Given the description of an element on the screen output the (x, y) to click on. 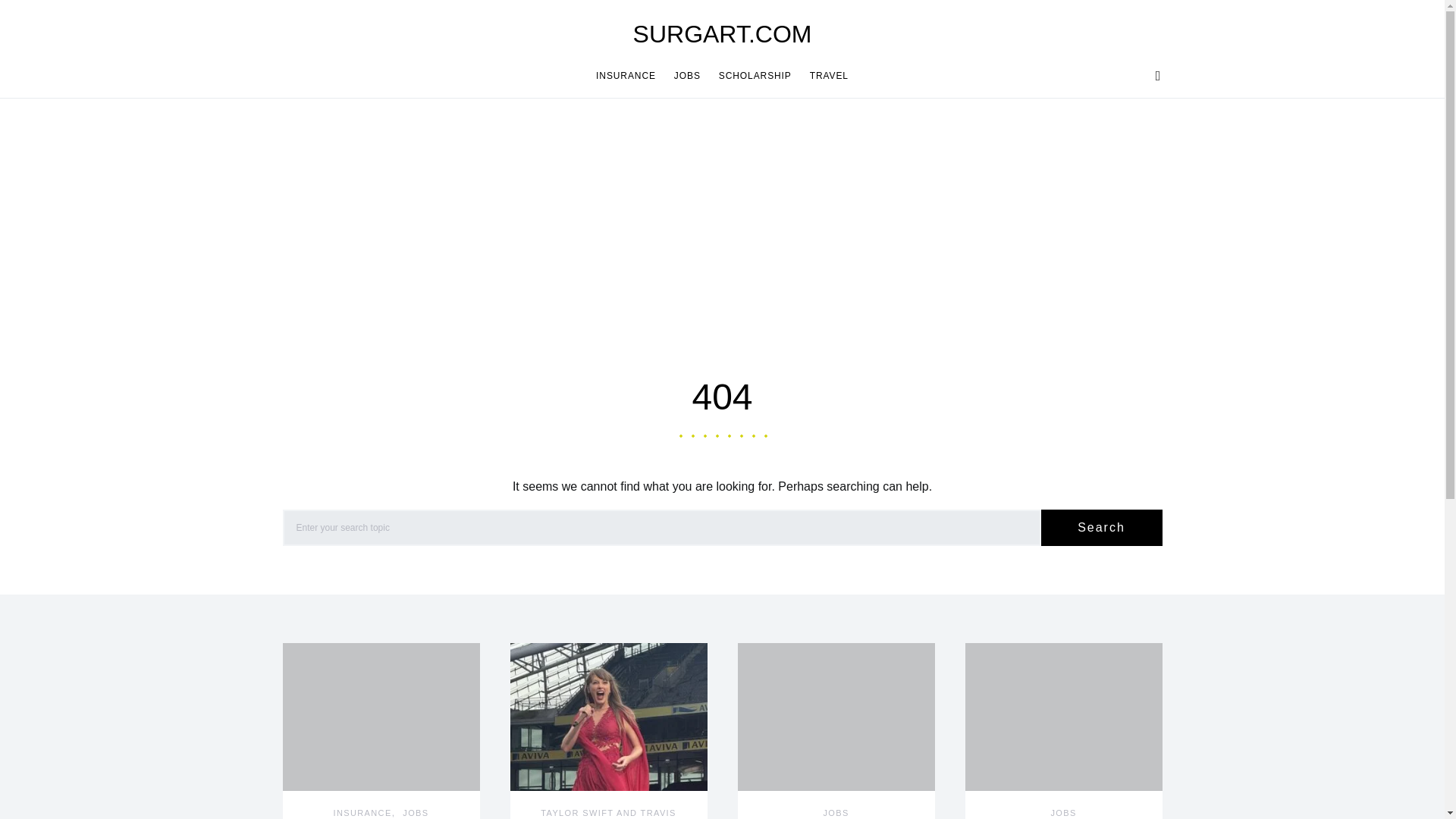
TAYLOR SWIFT AND TRAVIS KELCE (608, 813)
JOBS (687, 75)
SCHOLARSHIP (755, 75)
SURGART.COM (722, 33)
INSURANCE (630, 75)
TRAVEL (824, 75)
Search (1101, 527)
JOBS (415, 812)
JOBS (835, 812)
INSURANCE (362, 812)
